Given the description of an element on the screen output the (x, y) to click on. 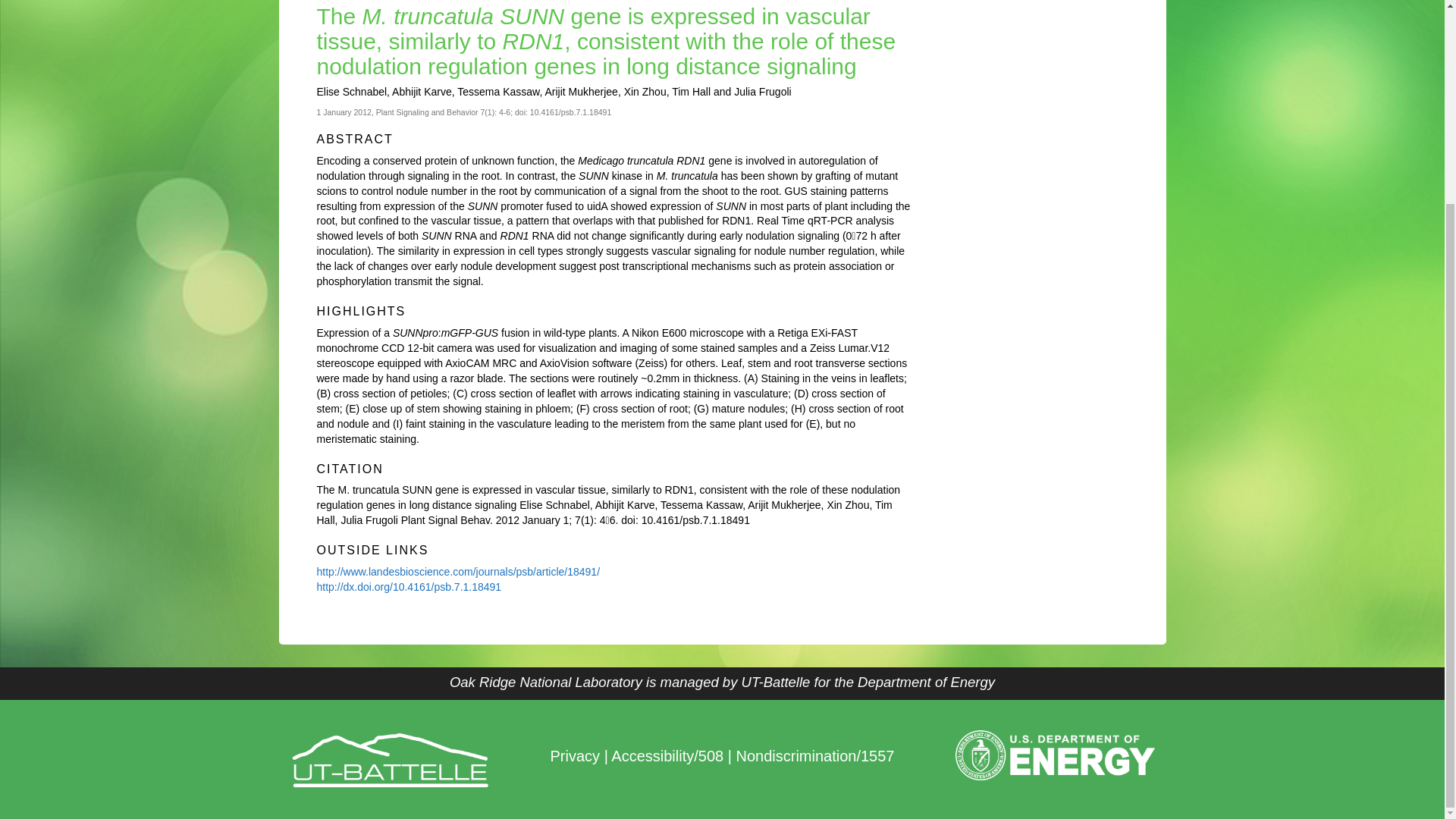
Privacy (574, 755)
